Given the description of an element on the screen output the (x, y) to click on. 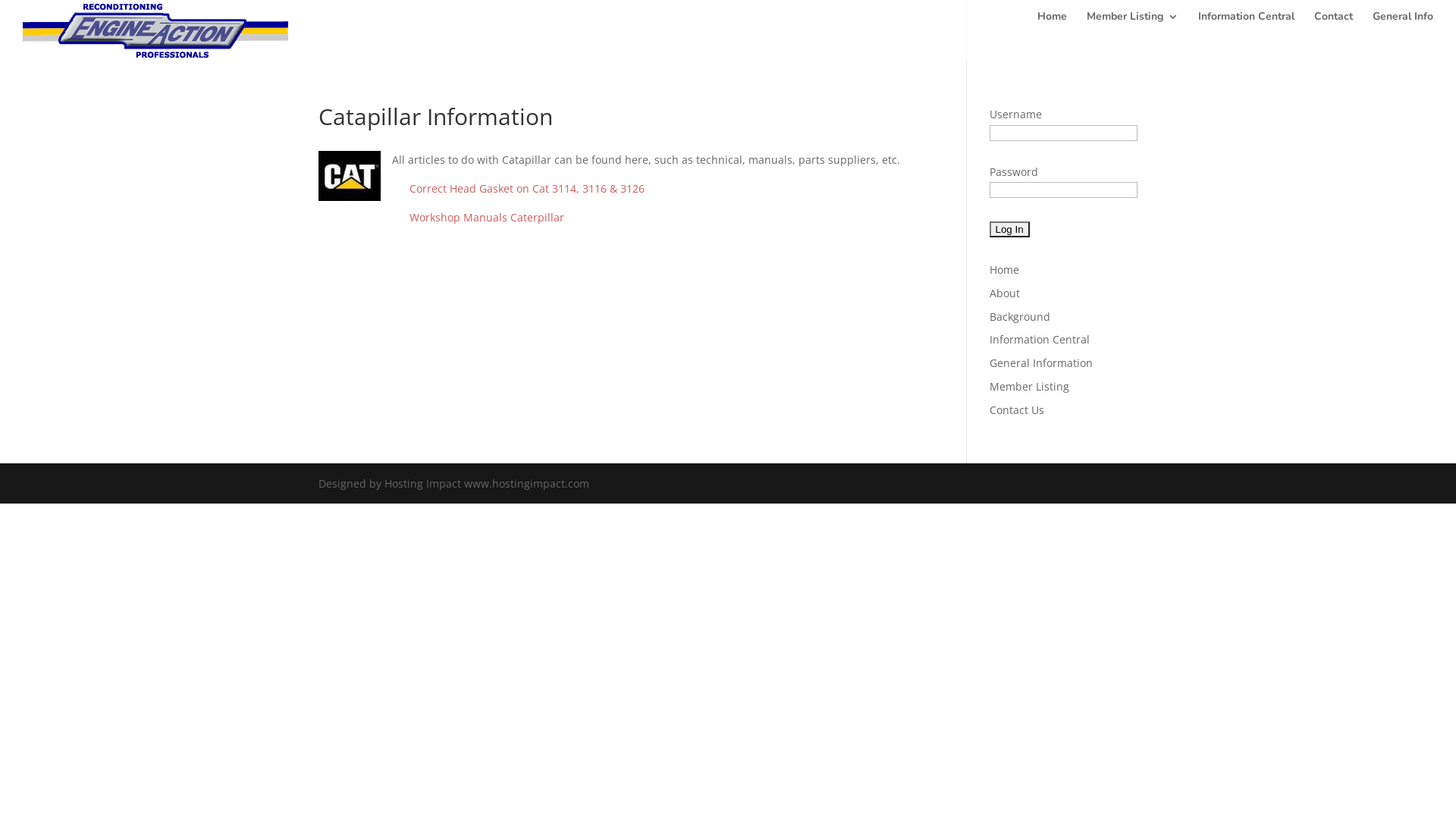
General Info Element type: text (1402, 22)
Workshop Manuals Caterpillar Element type: text (486, 217)
Log In Element type: text (1009, 229)
Correct Head Gasket on Cat 3114, 3116 & 3126 Element type: text (526, 188)
Home Element type: text (1051, 22)
Contact Us Element type: text (1016, 409)
About Element type: text (1004, 292)
Contact Element type: text (1333, 22)
Member Listing Element type: text (1132, 22)
Member Listing Element type: text (1029, 386)
General Information Element type: text (1040, 362)
Background Element type: text (1019, 316)
Home Element type: text (1004, 269)
Information Central Element type: text (1039, 339)
Information Central Element type: text (1246, 22)
Cat Element type: hover (349, 175)
